Given the description of an element on the screen output the (x, y) to click on. 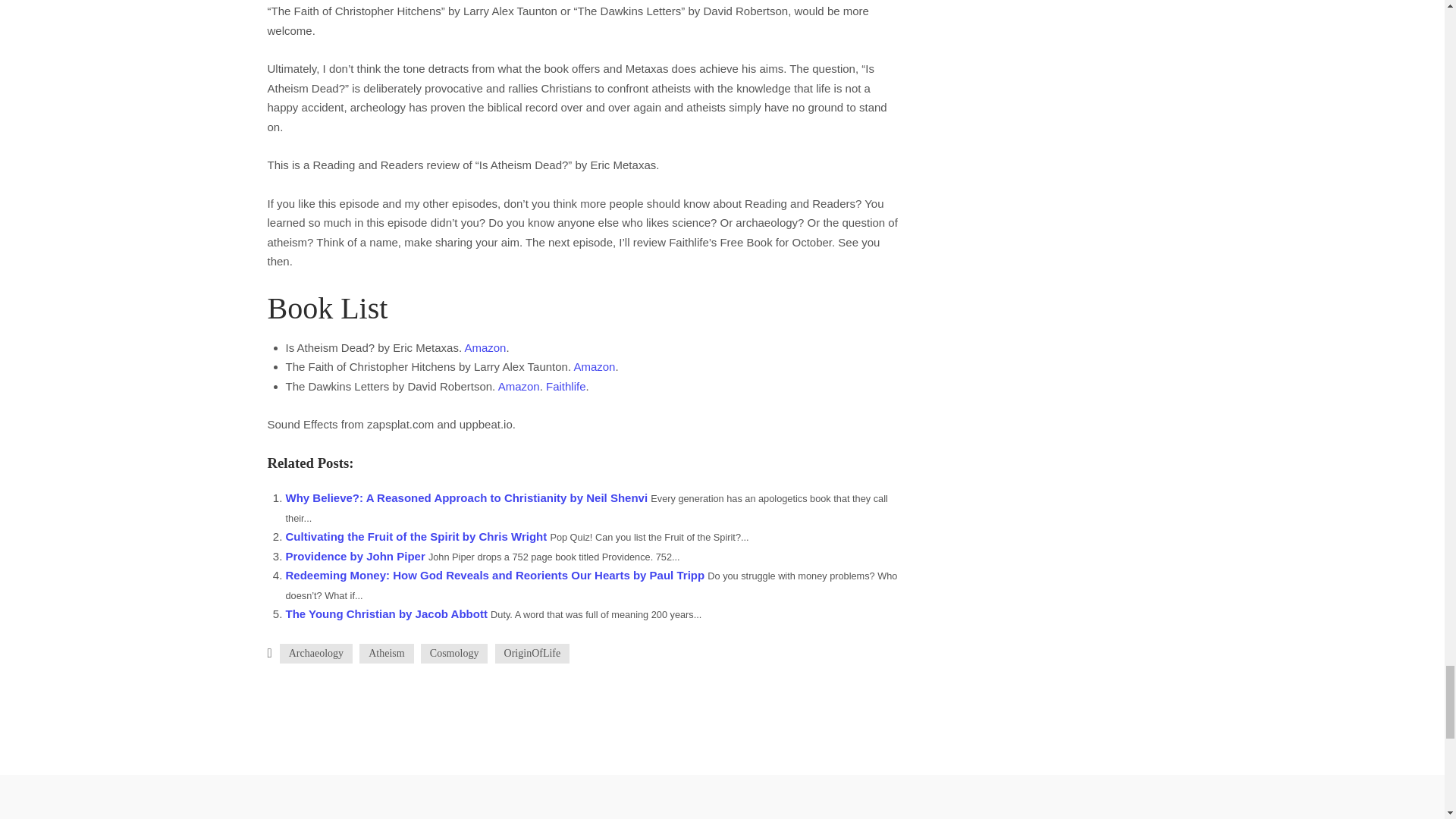
Cultivating the Fruit of the Spirit by Chris Wright (417, 535)
The Young Christian by Jacob Abbott (387, 613)
The Young Christian by Jacob Abbott (387, 613)
Faithlife (566, 386)
Amazon (484, 347)
Atheism (386, 653)
Amazon (518, 386)
Amazon (593, 366)
Providence by John Piper (356, 555)
